Given the description of an element on the screen output the (x, y) to click on. 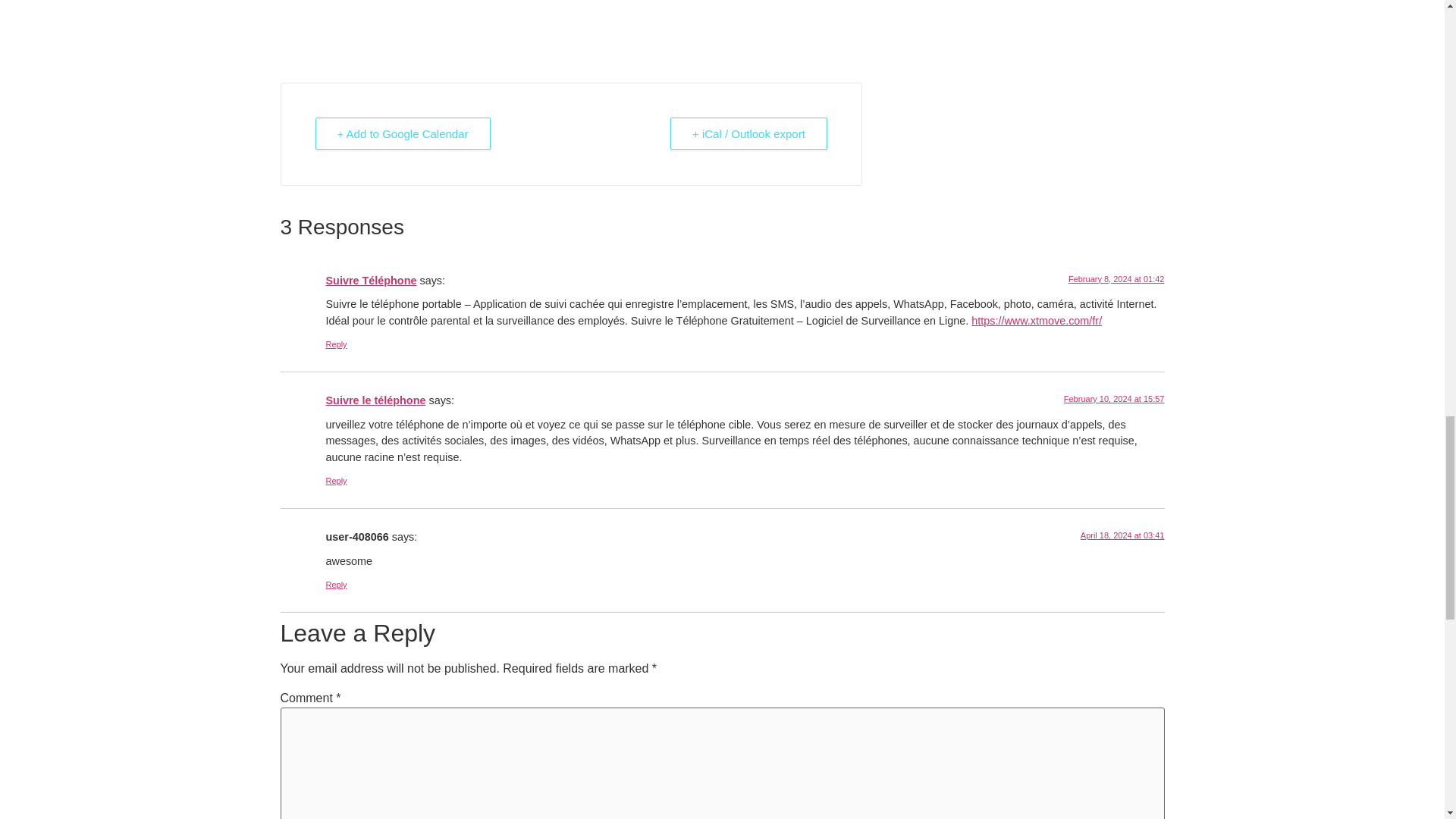
Subscribe (326, 7)
